Given the description of an element on the screen output the (x, y) to click on. 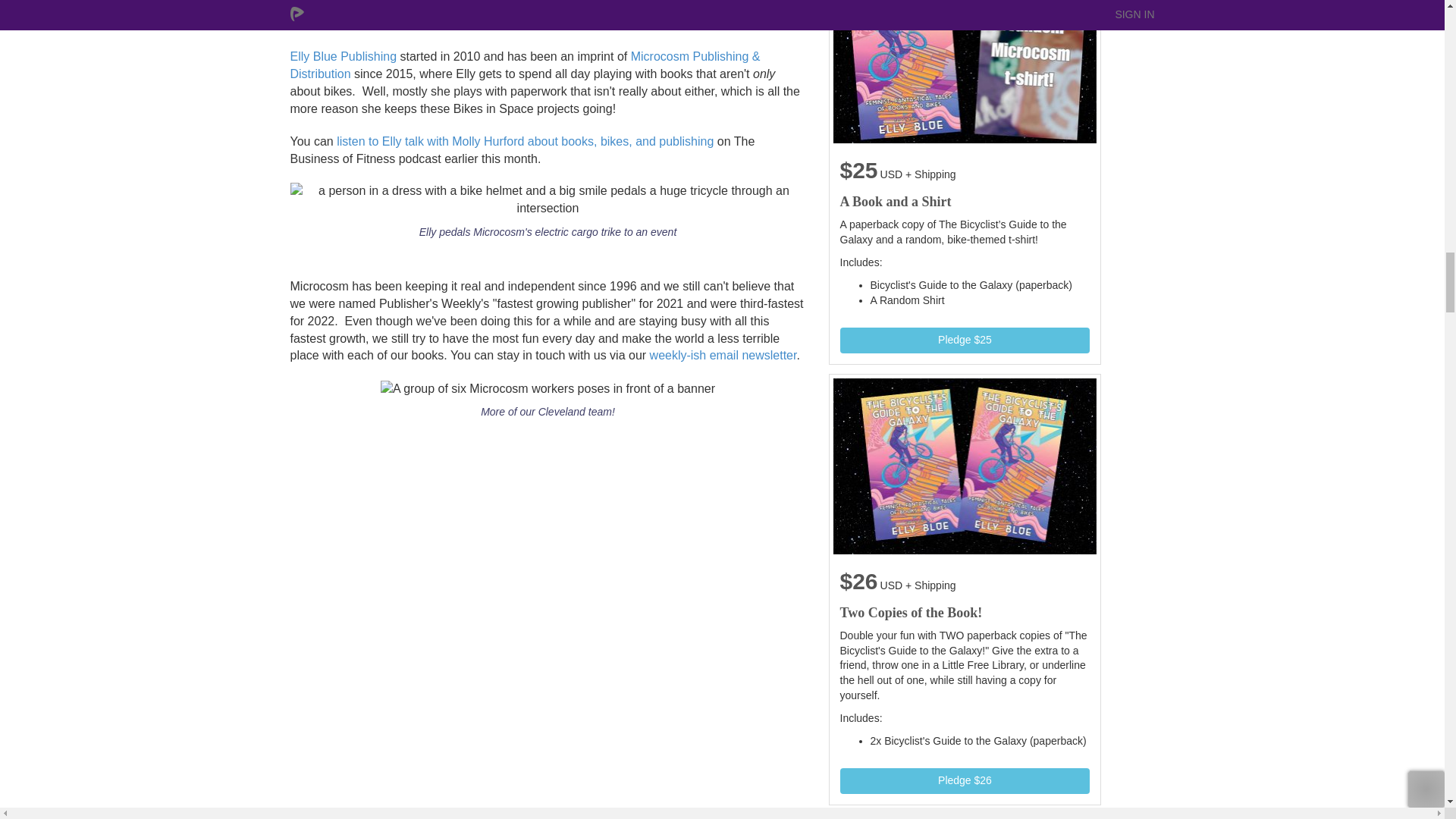
Elly Blue Publishing (342, 56)
weekly-ish email newsletter (721, 354)
